Given the description of an element on the screen output the (x, y) to click on. 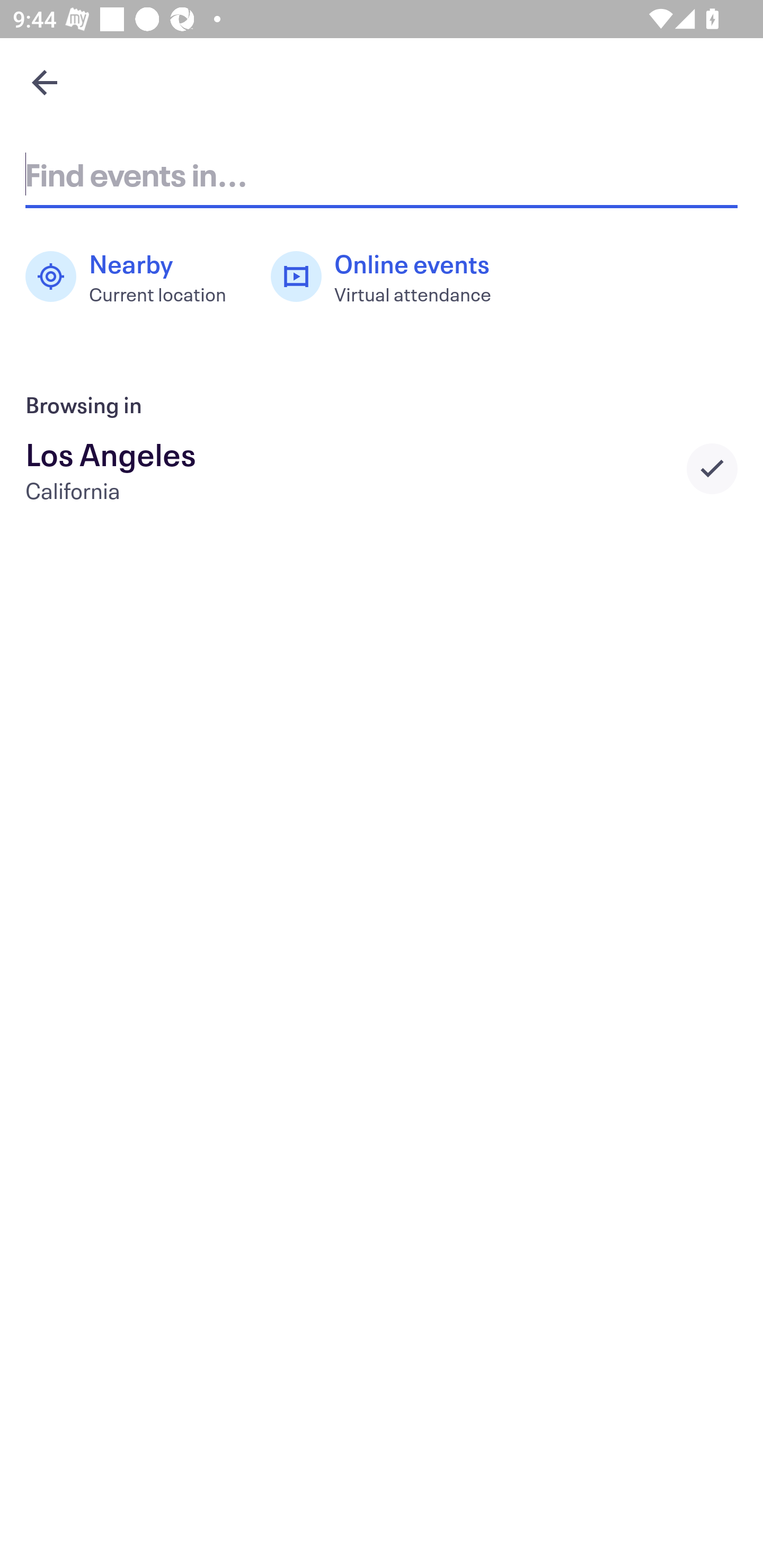
Navigate up (44, 82)
Find events in... (381, 173)
Nearby Current location (135, 276)
Online events Virtual attendance (390, 276)
Los Angeles California Selected city (381, 468)
